Given the description of an element on the screen output the (x, y) to click on. 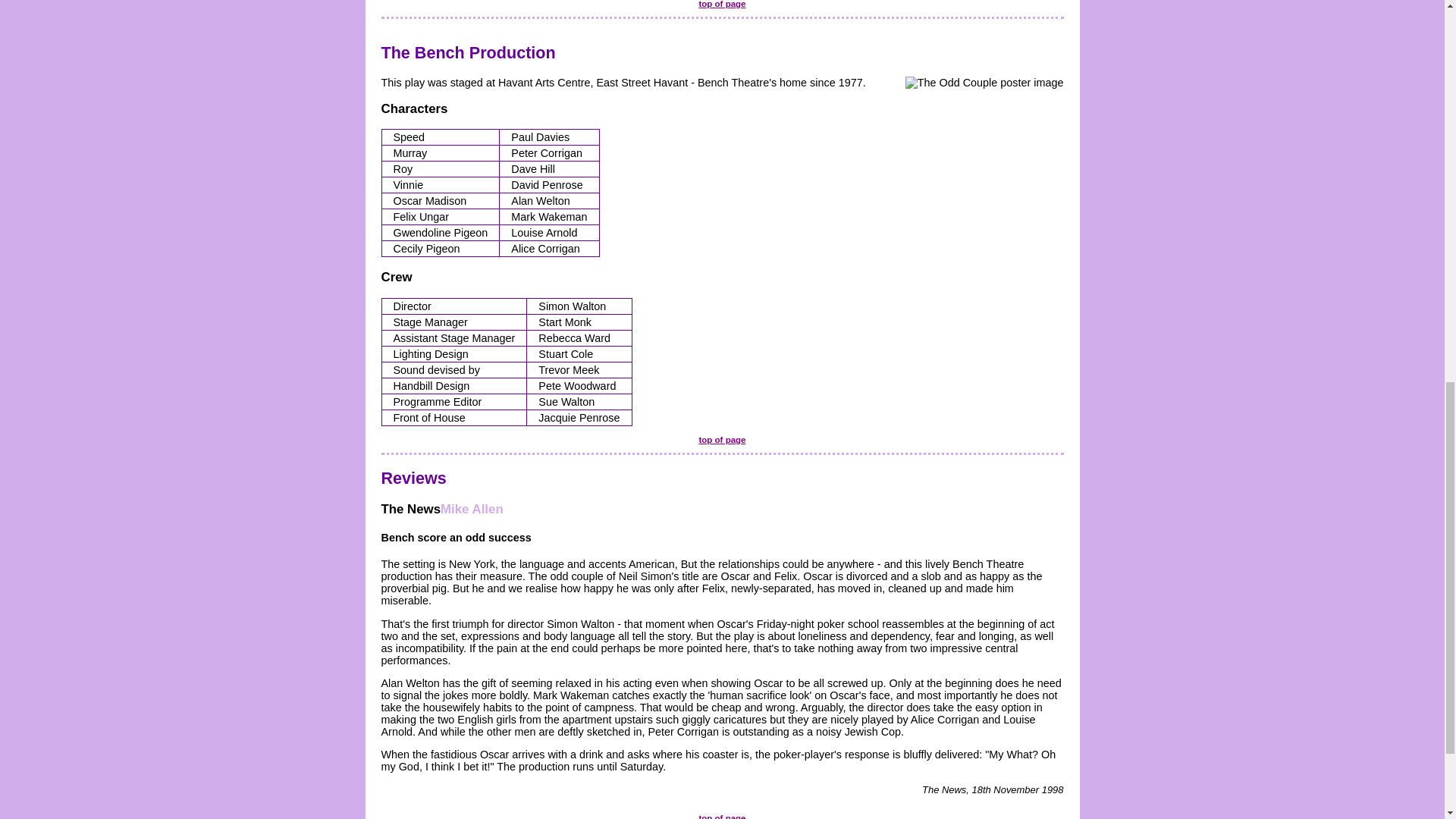
Reviews (412, 477)
The Bench Production (467, 52)
top of page (721, 816)
top of page (721, 439)
top of page (721, 4)
Characters (413, 108)
